Given the description of an element on the screen output the (x, y) to click on. 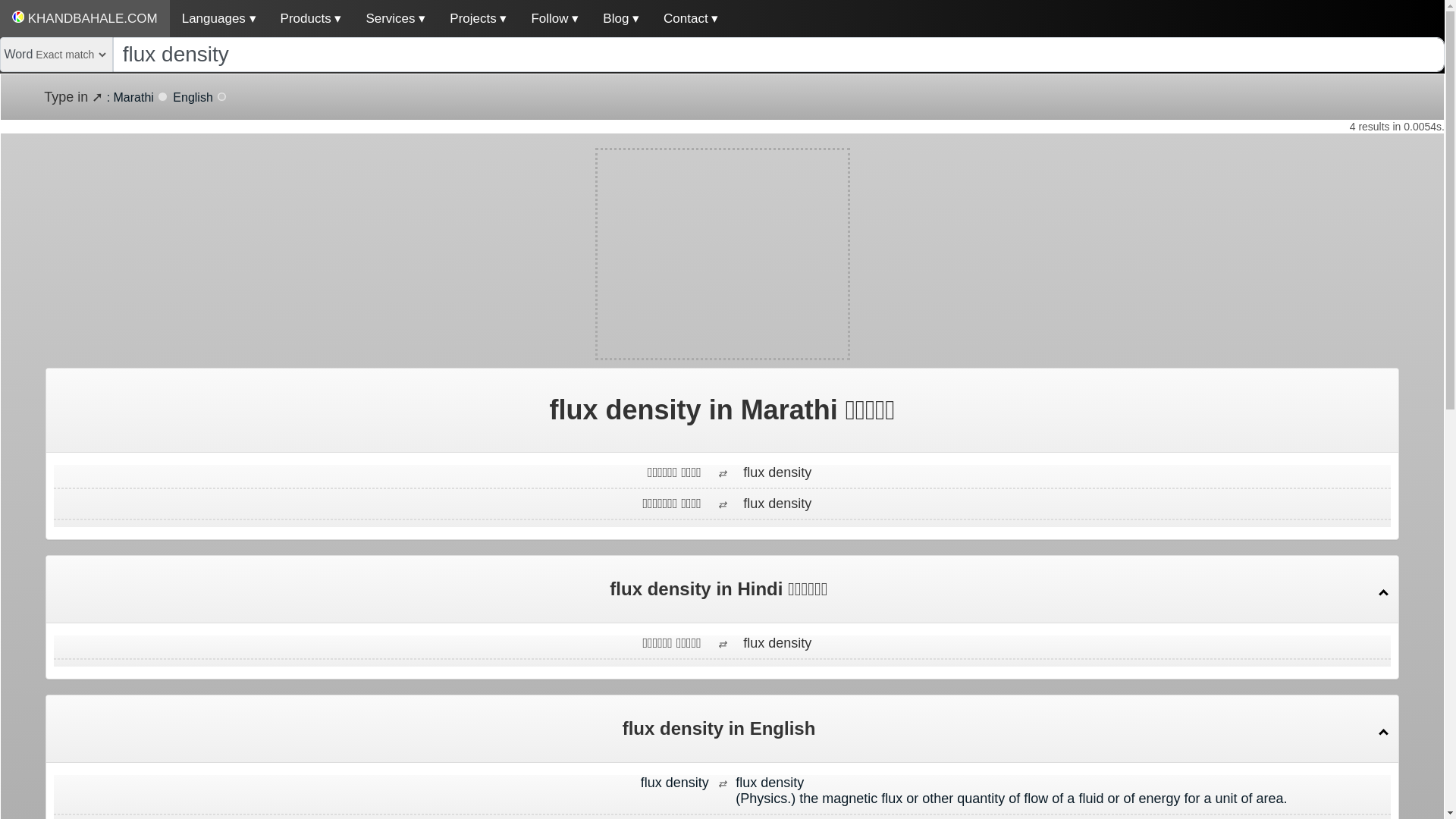
on (221, 96)
Indian Official Languages Dictionary (85, 18)
KHANDBAHALE.COM (85, 18)
on (162, 96)
